Given the description of an element on the screen output the (x, y) to click on. 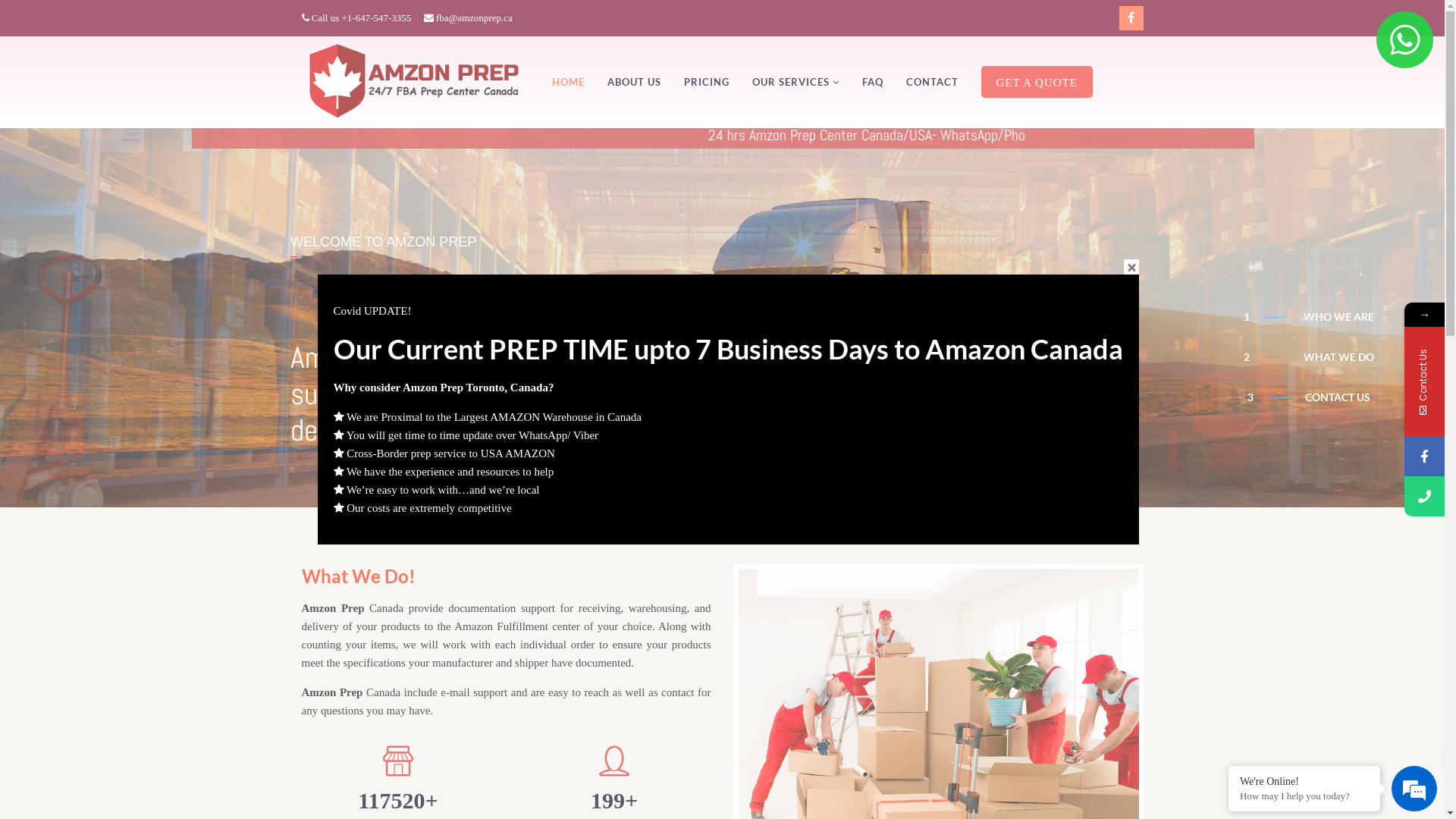
CONTACT Element type: text (931, 81)
Close Element type: hover (1131, 266)
HOME Element type: text (568, 81)
GET A QUOTE Element type: text (1036, 81)
PRICING Element type: text (706, 81)
OUR SERVICES Element type: text (795, 82)
ABOUT US Element type: text (633, 81)
FAQ Element type: text (871, 81)
